Given the description of an element on the screen output the (x, y) to click on. 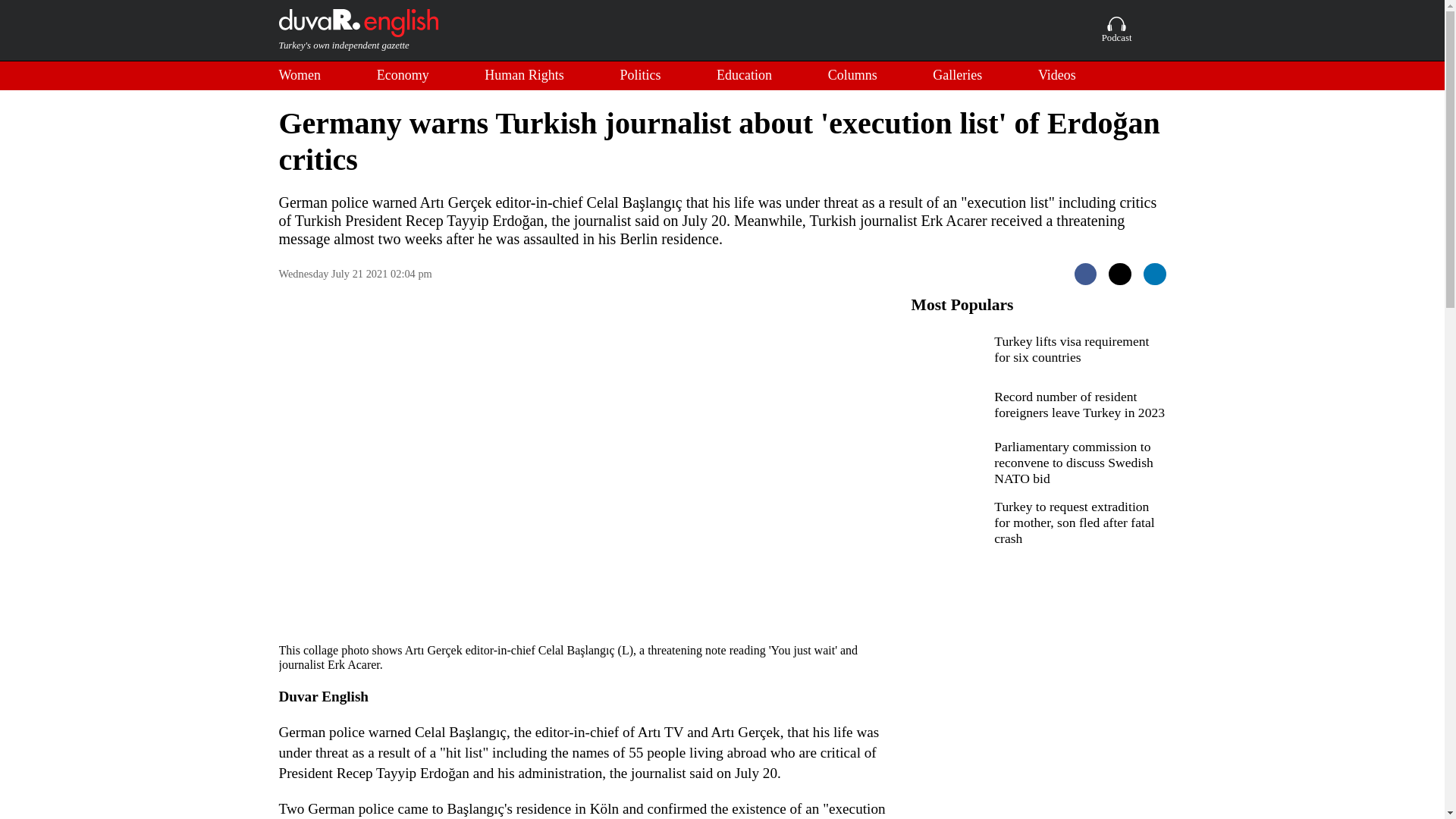
Videos (1056, 75)
Economy (403, 75)
Share with Facebook (1085, 273)
Turkey's own independent gazette (358, 30)
Politics (640, 75)
Share with Linkedin (1154, 273)
Economy (403, 75)
Share with Twitter (1119, 273)
Duvar English (358, 30)
